Given the description of an element on the screen output the (x, y) to click on. 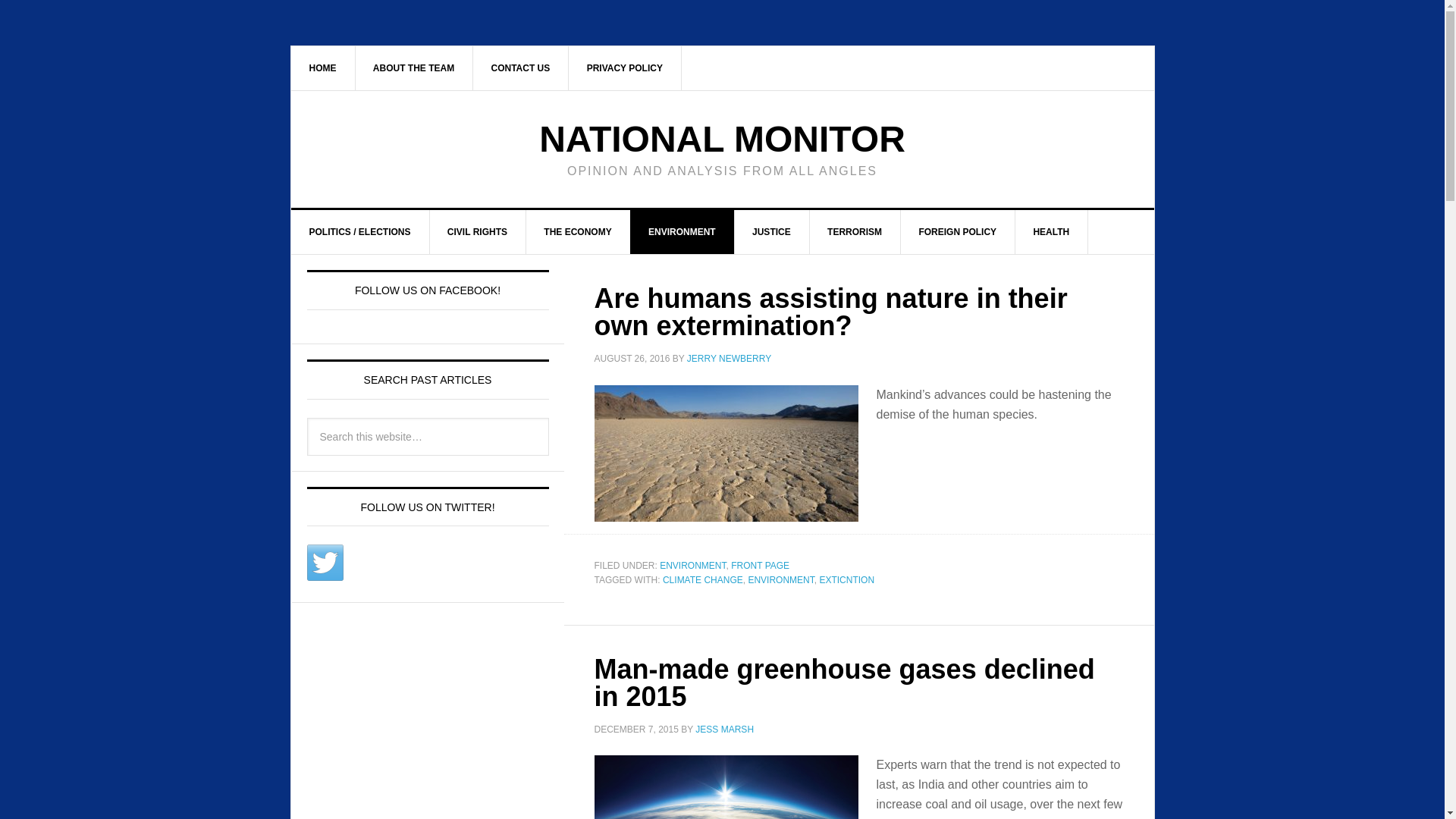
HEALTH (1050, 231)
JUSTICE (771, 231)
Follow us on Twitter (323, 562)
EXTICNTION (846, 579)
NATIONAL MONITOR (721, 138)
ENVIRONMENT (692, 564)
PRIVACY POLICY (625, 67)
ABOUT THE TEAM (414, 67)
CIVIL RIGHTS (477, 231)
JESS MARSH (724, 728)
